Given the description of an element on the screen output the (x, y) to click on. 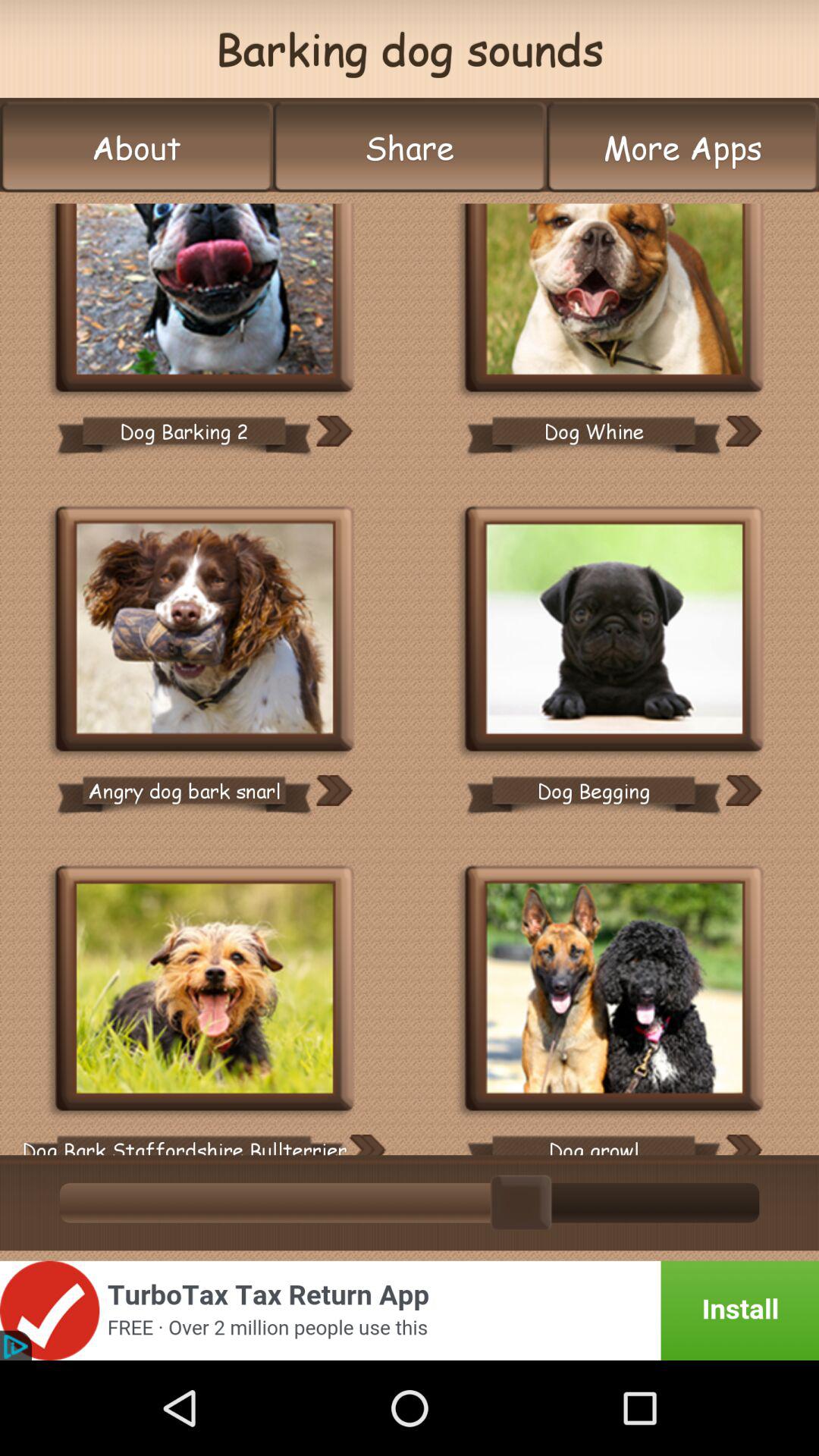
icon dog begging sound (613, 630)
